Given the description of an element on the screen output the (x, y) to click on. 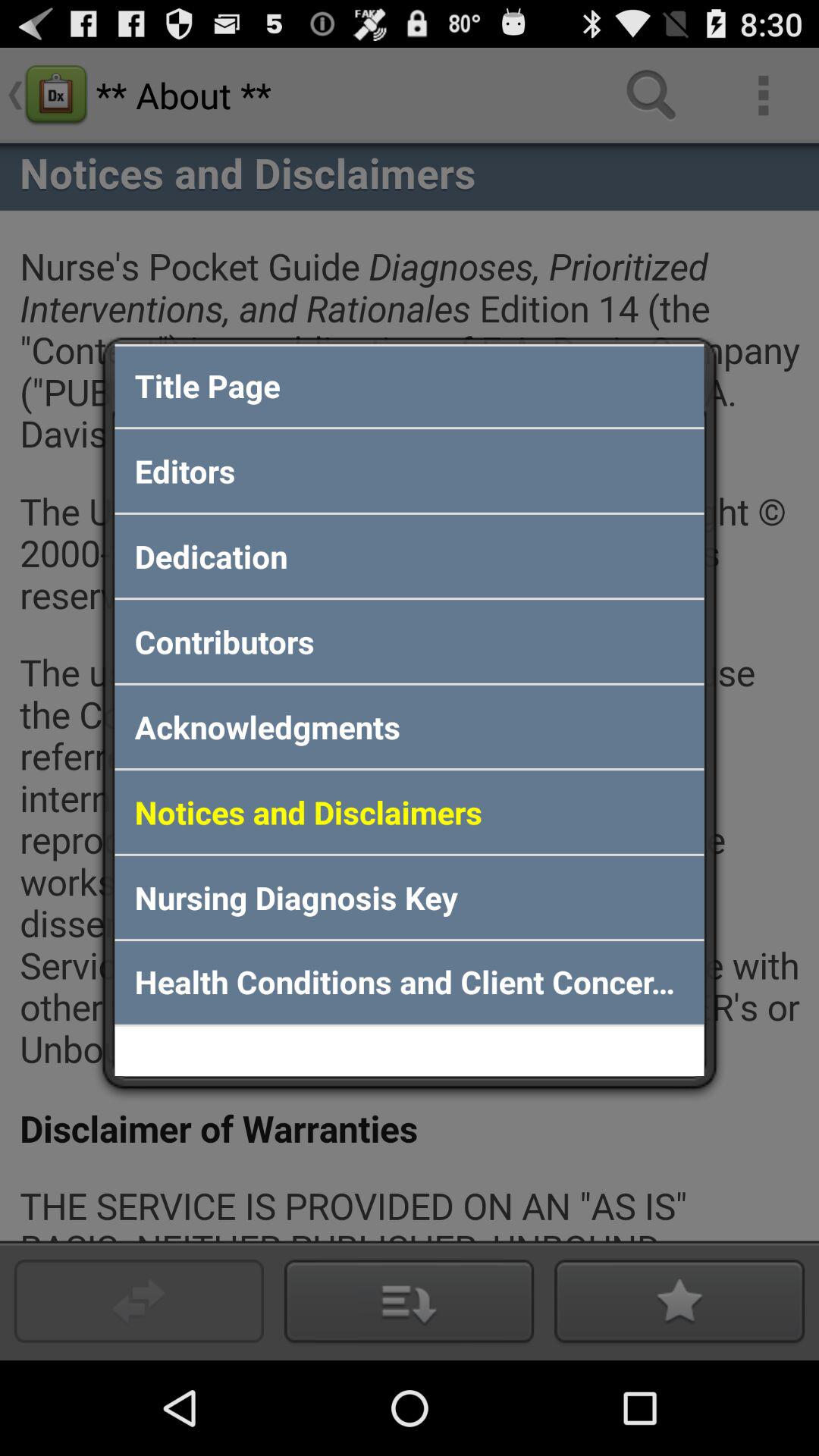
scroll until editors item (409, 470)
